Given the description of an element on the screen output the (x, y) to click on. 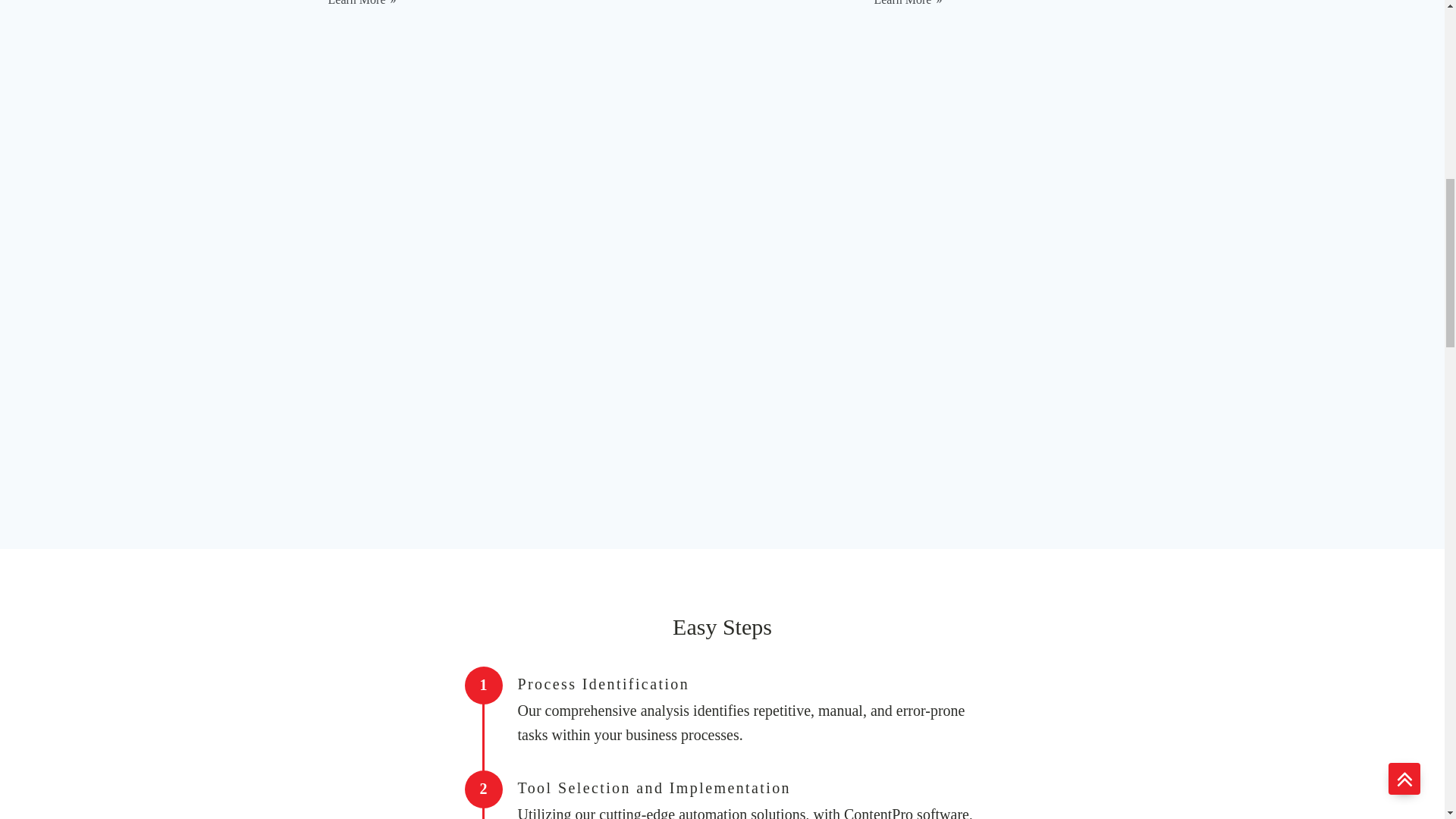
Learn More (362, 4)
Learn More (907, 4)
Learn More (633, 0)
